Given the description of an element on the screen output the (x, y) to click on. 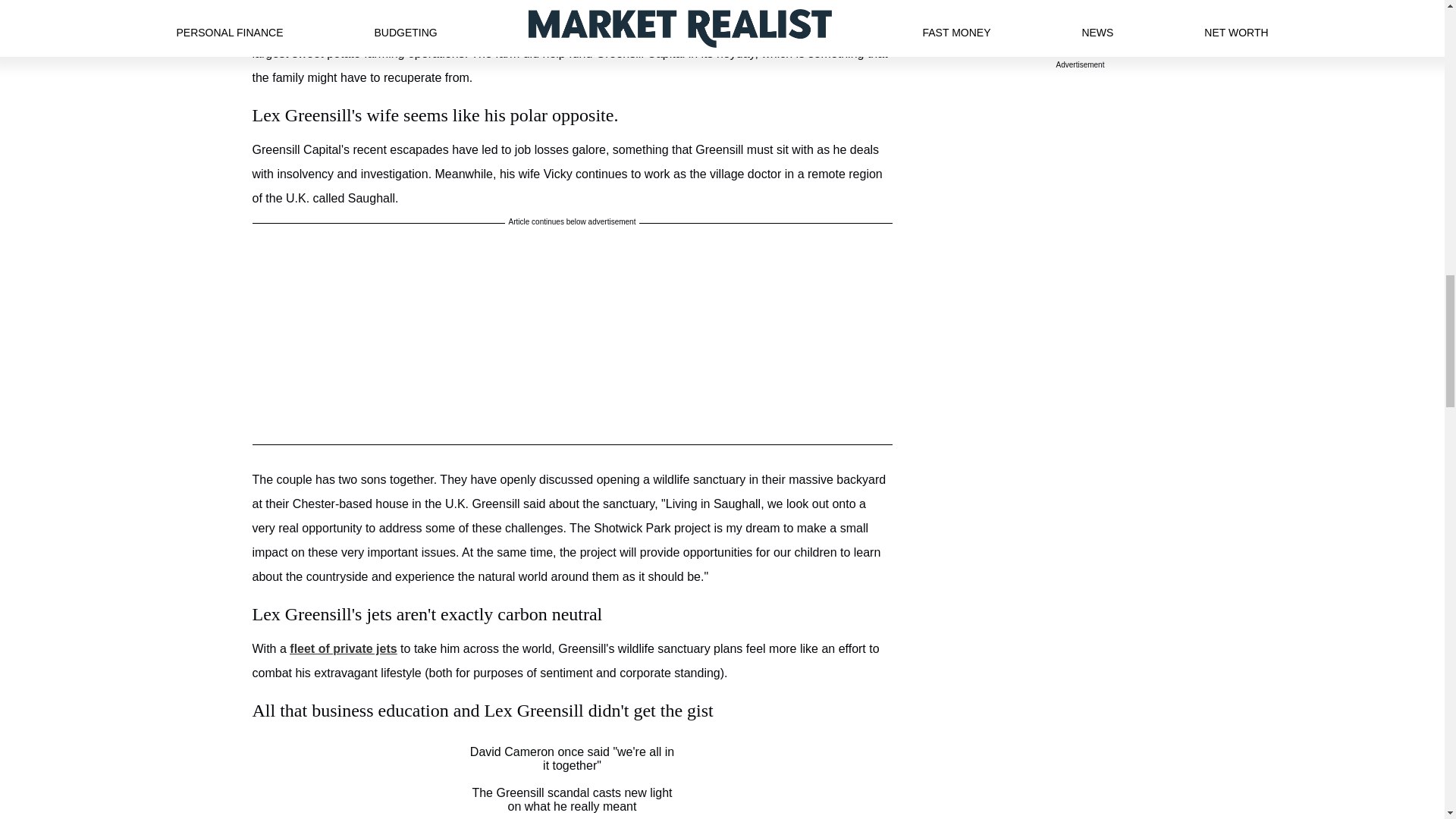
fleet of private jets (342, 648)
